Given the description of an element on the screen output the (x, y) to click on. 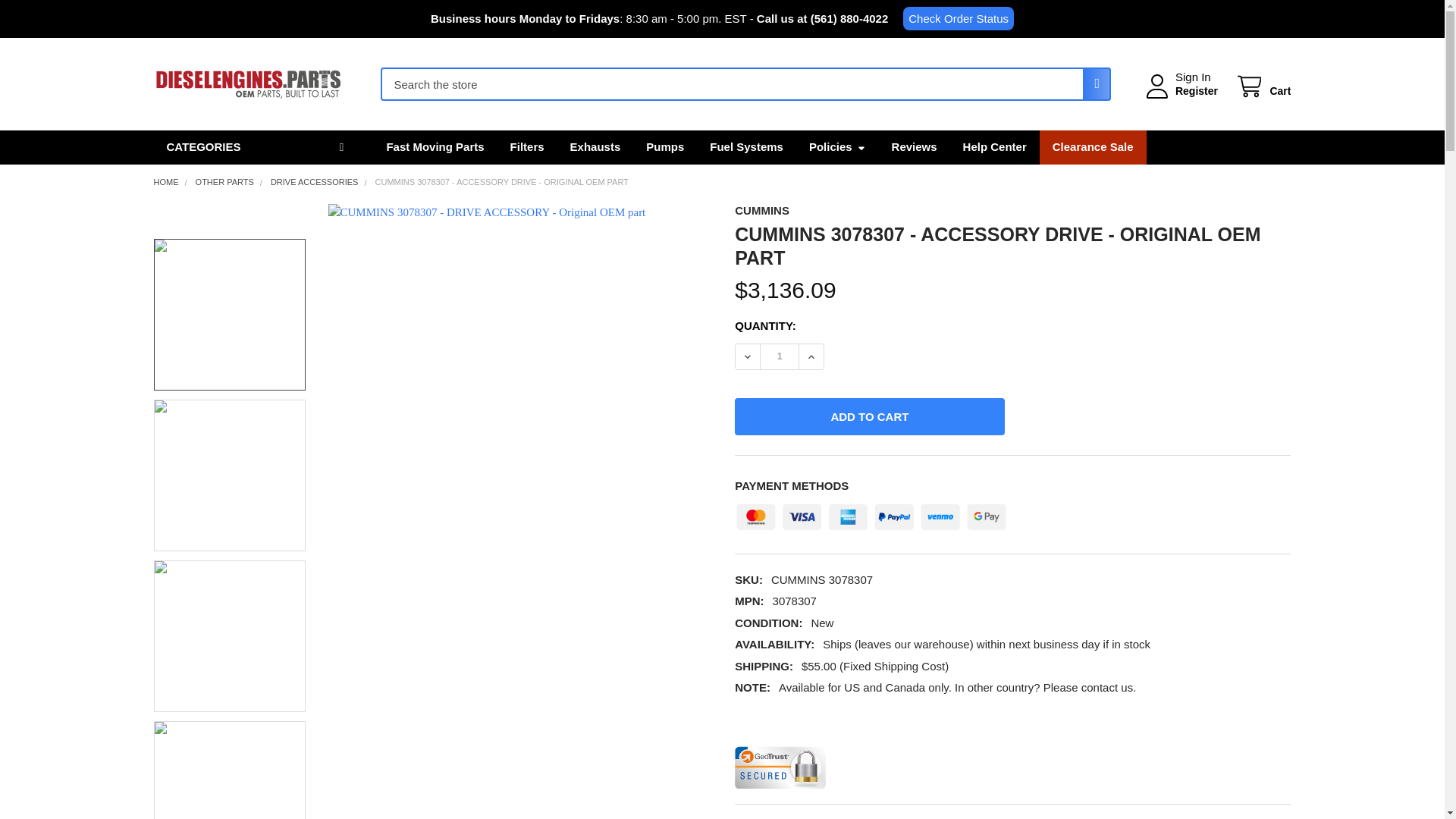
Cart (1262, 86)
Sign In (1192, 77)
CATEGORIES (255, 146)
Register (1195, 91)
Payment Methods (871, 513)
CUMMINS 3078307 - DRIVE ACCESSORY - Original OEM part (229, 475)
1 (778, 356)
CUMMINS 3078307 - DRIVE ACCESSORY - Original OEM part (229, 314)
Add to Cart (869, 416)
Search (1092, 83)
Cart (1262, 86)
CUMMINS 3078307 - DRIVE ACCESSORY - Original OEM part (229, 636)
DIESELENGINES PARTS (247, 84)
CUMMINS 3078307 - DRIVE ACCESSORY - Original OEM part (229, 770)
Search (1092, 83)
